Given the description of an element on the screen output the (x, y) to click on. 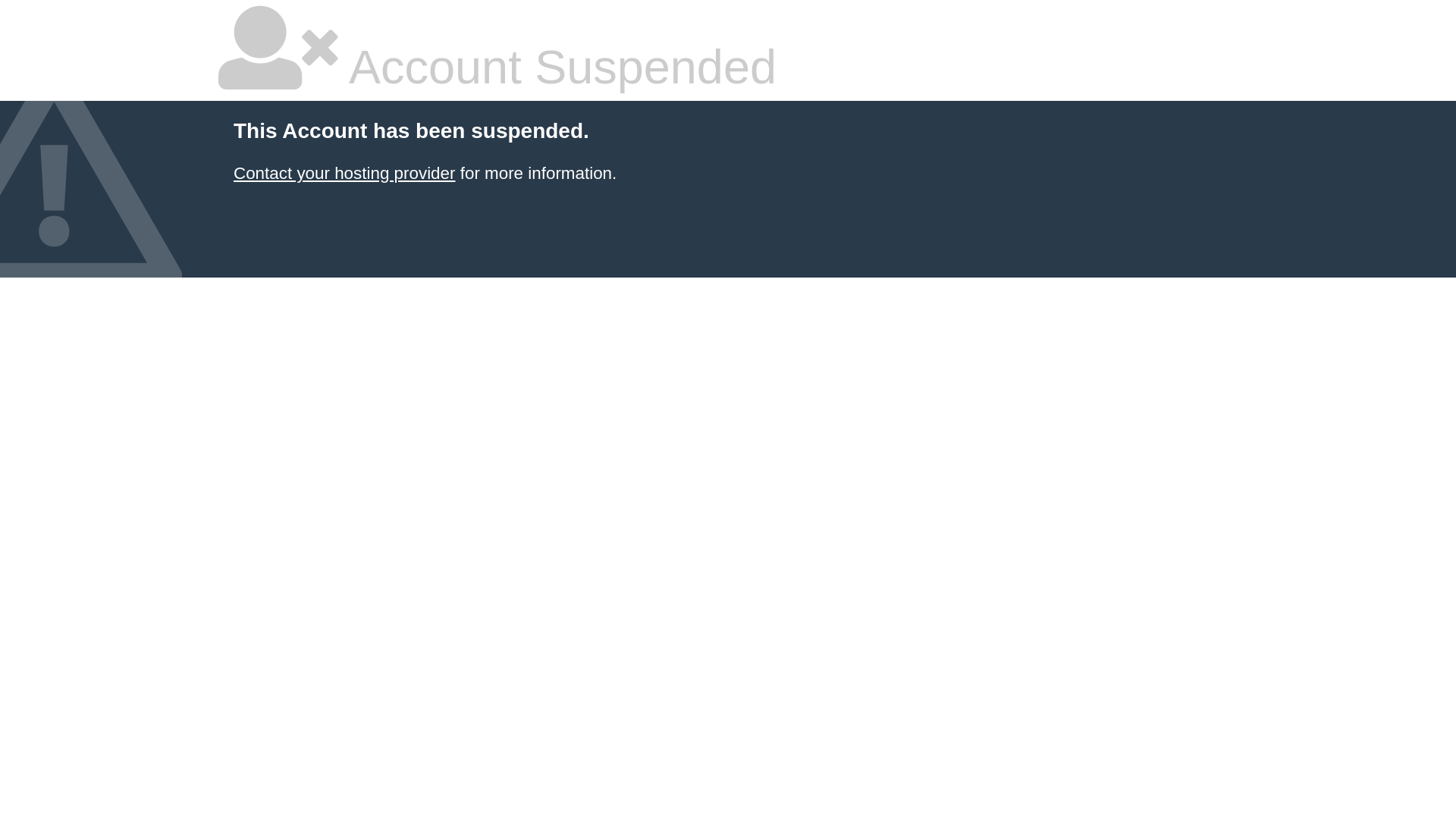
Contact your hosting provider Element type: text (344, 172)
